Given the description of an element on the screen output the (x, y) to click on. 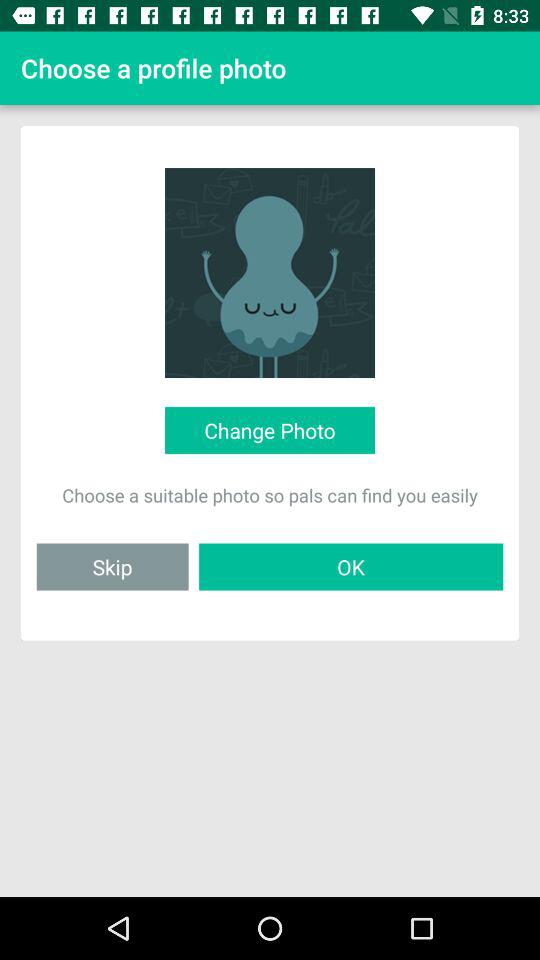
press the item below the choose a suitable icon (351, 566)
